Given the description of an element on the screen output the (x, y) to click on. 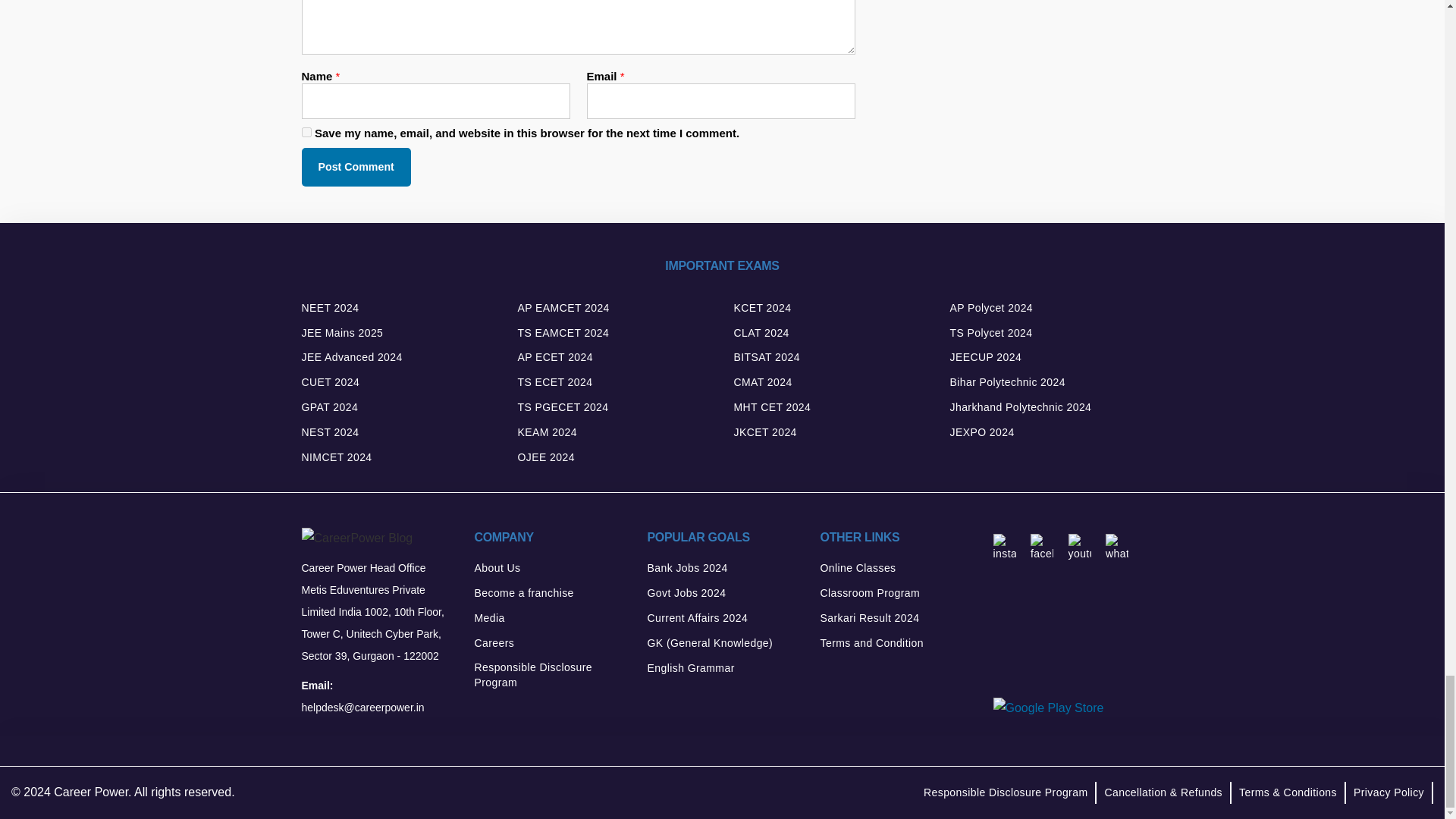
Post Comment (355, 167)
yes (306, 132)
